Given the description of an element on the screen output the (x, y) to click on. 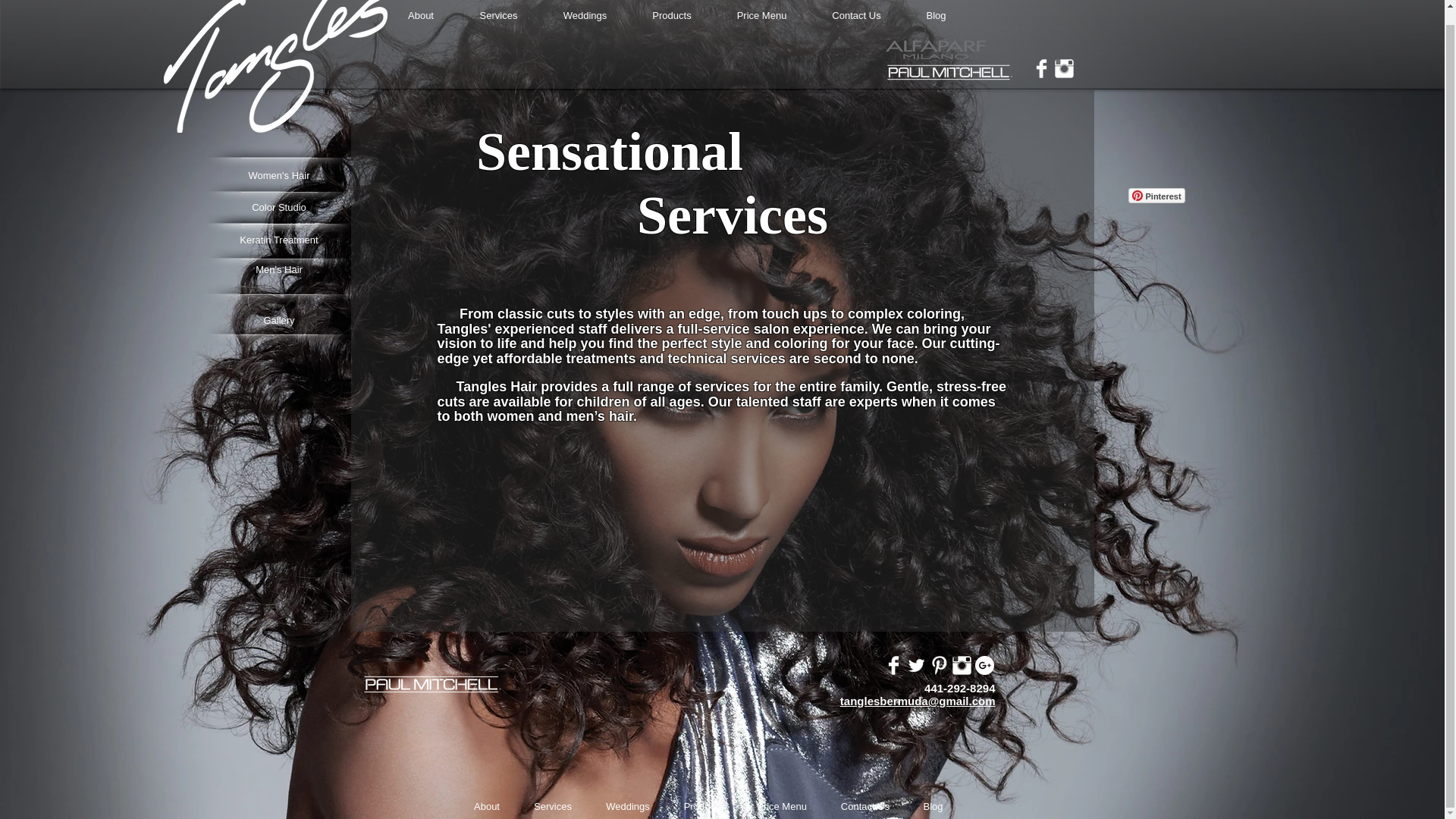
Women's Hair (277, 176)
Pinterest (1156, 195)
Twitter Follow (1163, 231)
women (510, 416)
Contact Us (856, 15)
Services (498, 15)
Price Menu (761, 15)
children (603, 401)
Color Studio (277, 207)
Pinterest (1156, 195)
